Given the description of an element on the screen output the (x, y) to click on. 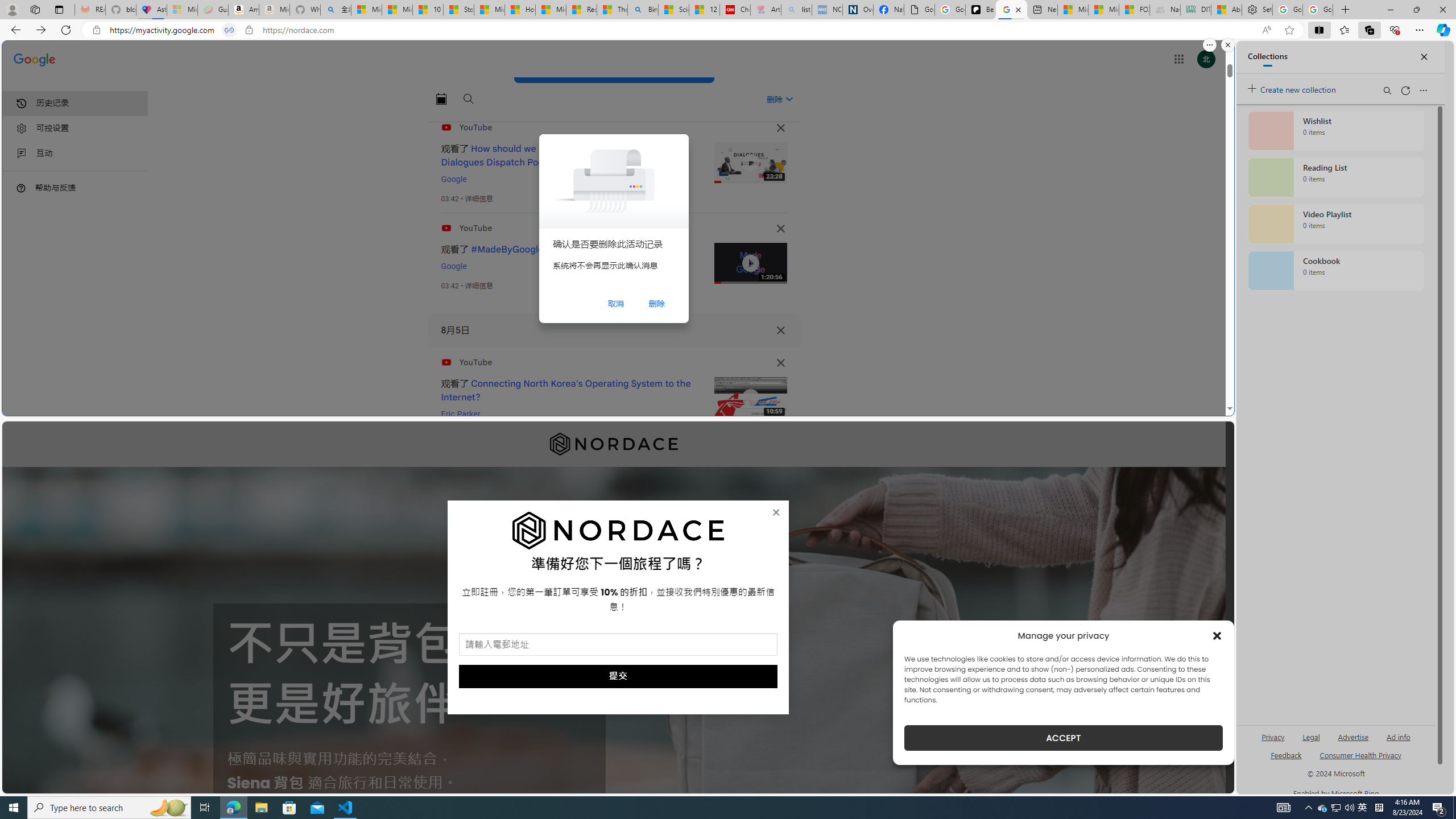
AutomationID: field_5_1 (617, 645)
AutomationID: input_5_1 (617, 644)
